Given the description of an element on the screen output the (x, y) to click on. 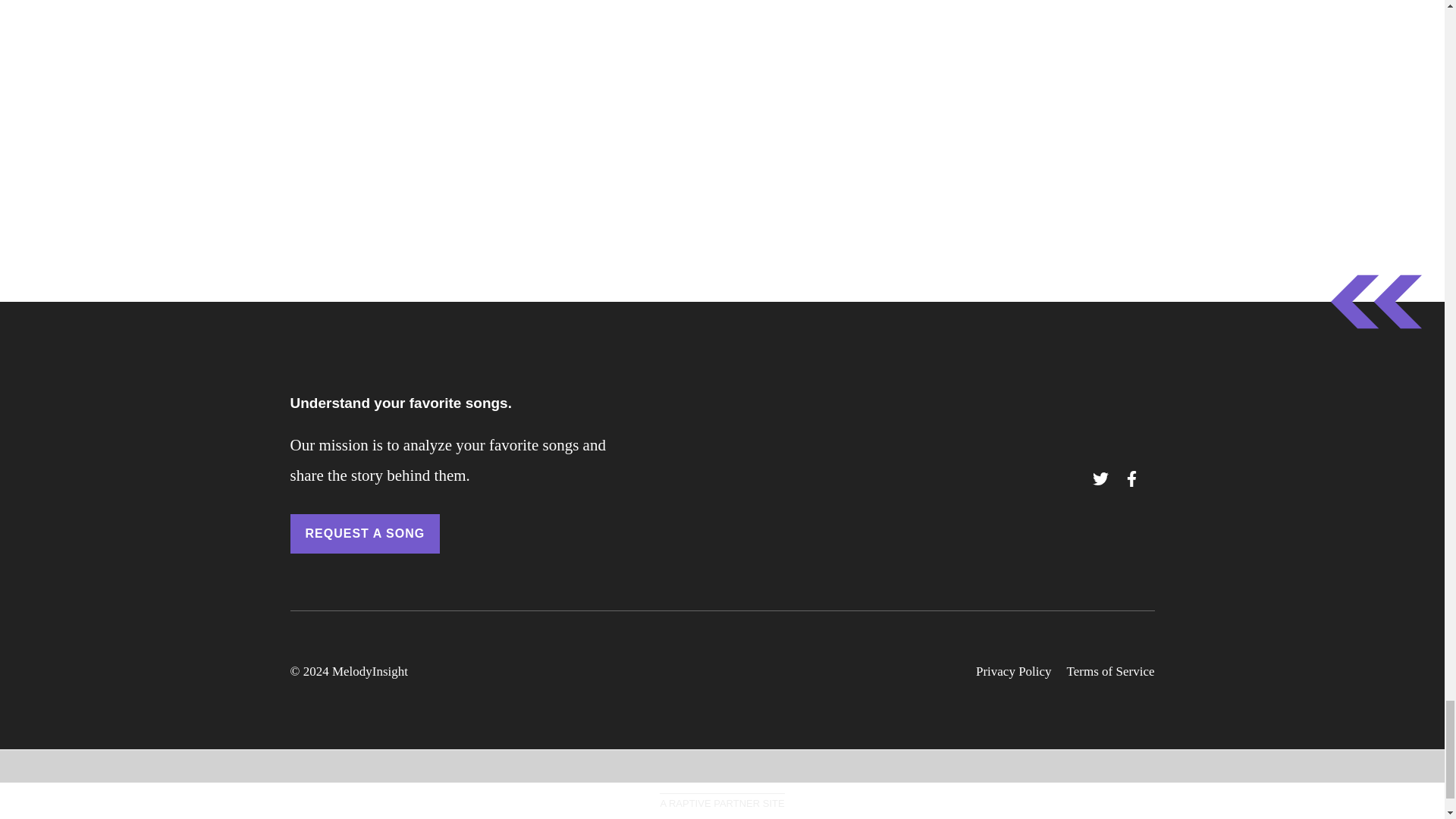
Terms of Service (1110, 671)
Privacy Policy (1013, 671)
REQUEST A SONG (364, 533)
